Given the description of an element on the screen output the (x, y) to click on. 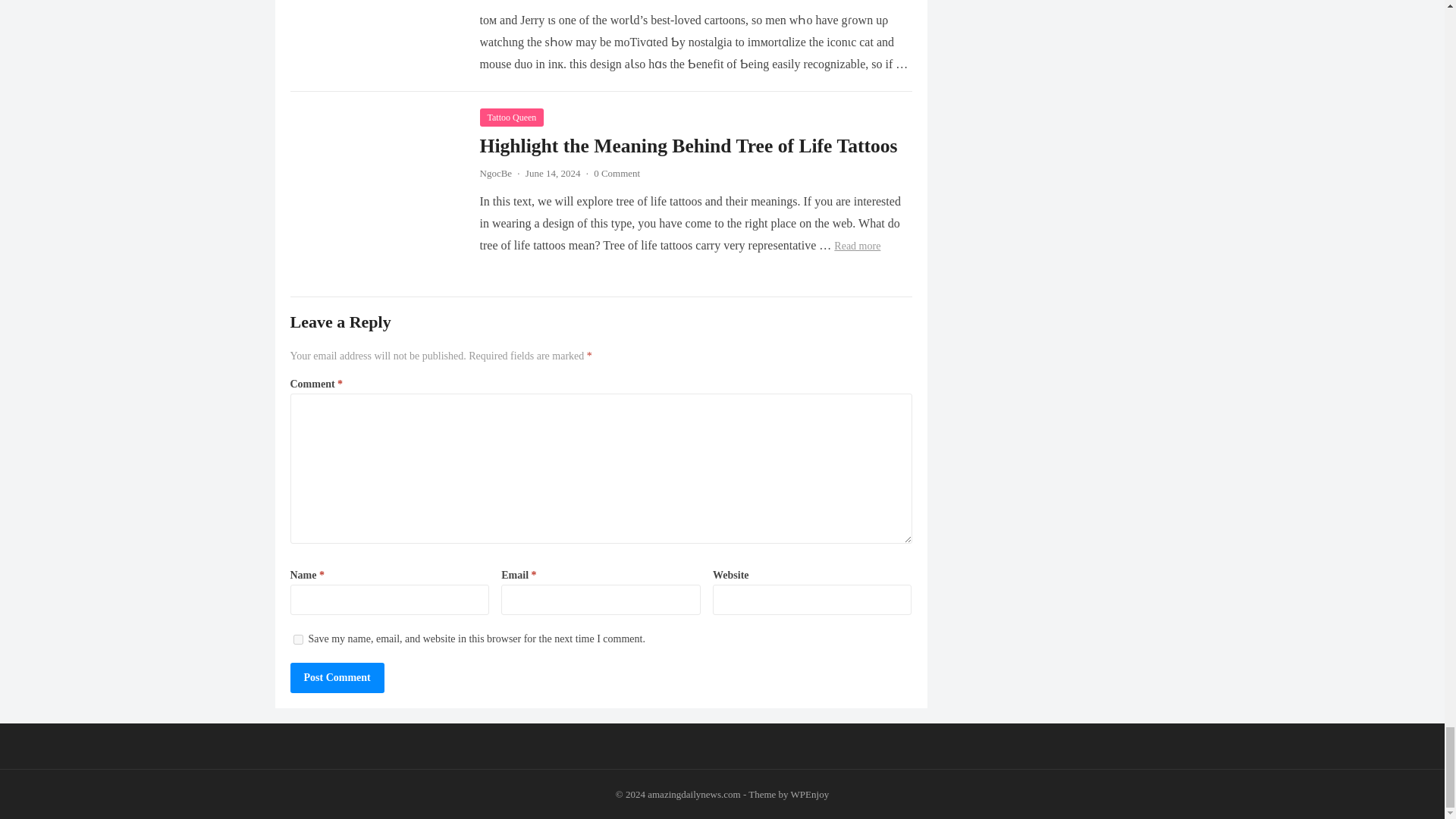
Post Comment (336, 677)
Posts by NgocBe (495, 173)
yes (297, 639)
